Given the description of an element on the screen output the (x, y) to click on. 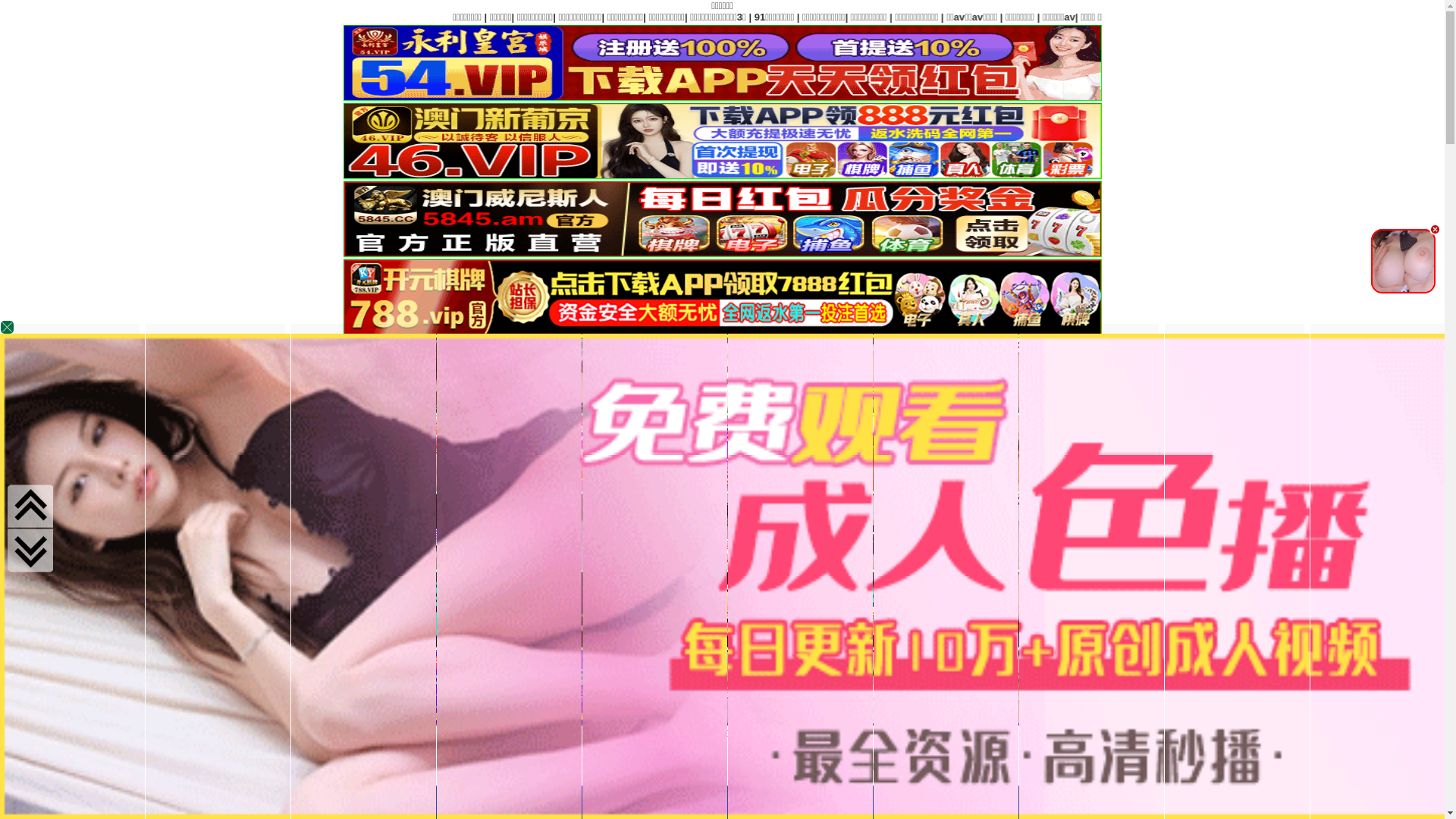
| Element type: text (329, 16)
| Element type: text (571, 16)
| Element type: text (7, 16)
| Element type: text (161, 16)
| Element type: text (301, 16)
| Element type: text (820, 16)
| Element type: text (379, 16)
| Element type: text (239, 16)
| Element type: text (704, 16)
| Element type: text (773, 16)
| Element type: text (205, 16)
| Element type: text (747, 16)
| Element type: text (503, 16)
| Element type: text (60, 16)
| Element type: text (798, 16)
| Element type: text (478, 16)
| Element type: text (662, 16)
| Element type: text (606, 16)
| Element type: text (272, 16)
| Element type: text (434, 16)
| Element type: text (117, 16)
